Given the description of an element on the screen output the (x, y) to click on. 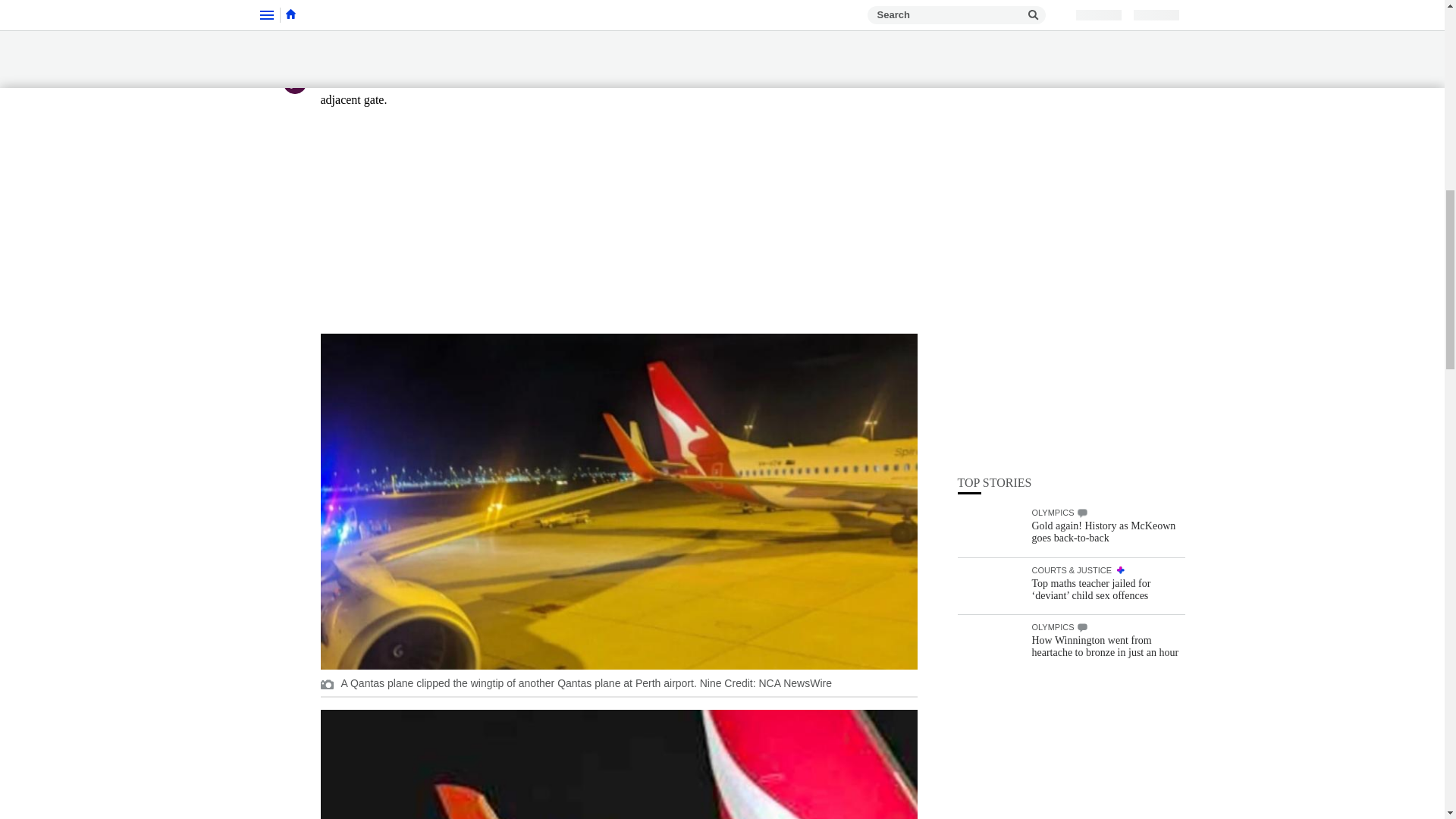
COMMENTS (1082, 276)
PREMIUM (1120, 218)
COMMENTS (1082, 162)
